Given the description of an element on the screen output the (x, y) to click on. 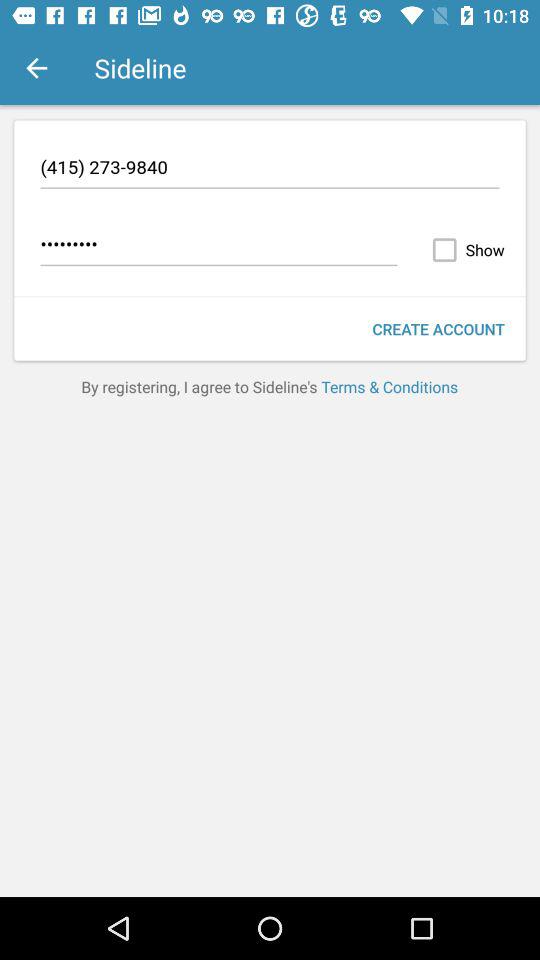
click the icon below the (415) 273-9840 (218, 247)
